Given the description of an element on the screen output the (x, y) to click on. 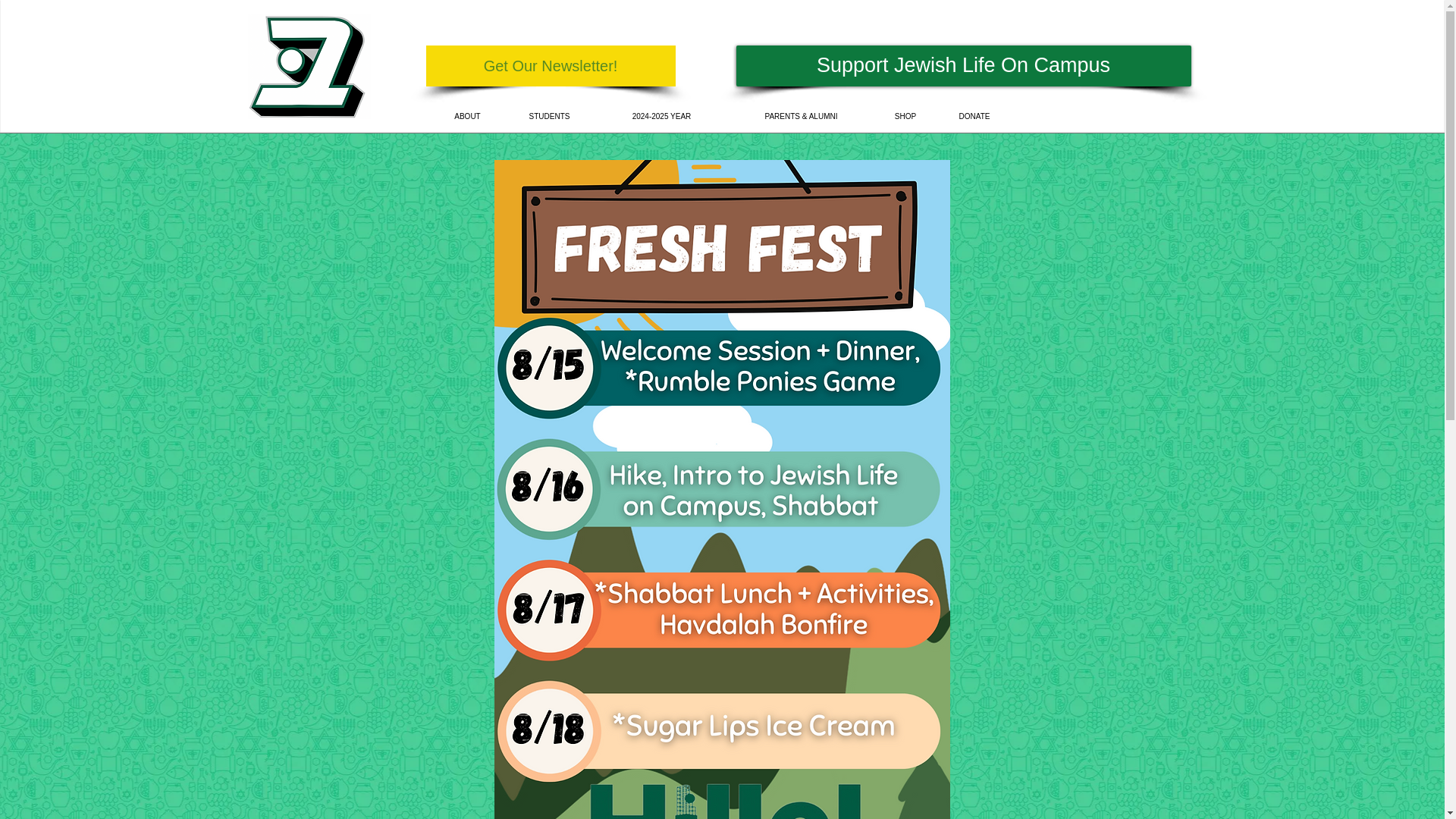
Support Jewish Life On Campus (963, 65)
DONATE (973, 116)
Get Our Newsletter! (550, 65)
